Given the description of an element on the screen output the (x, y) to click on. 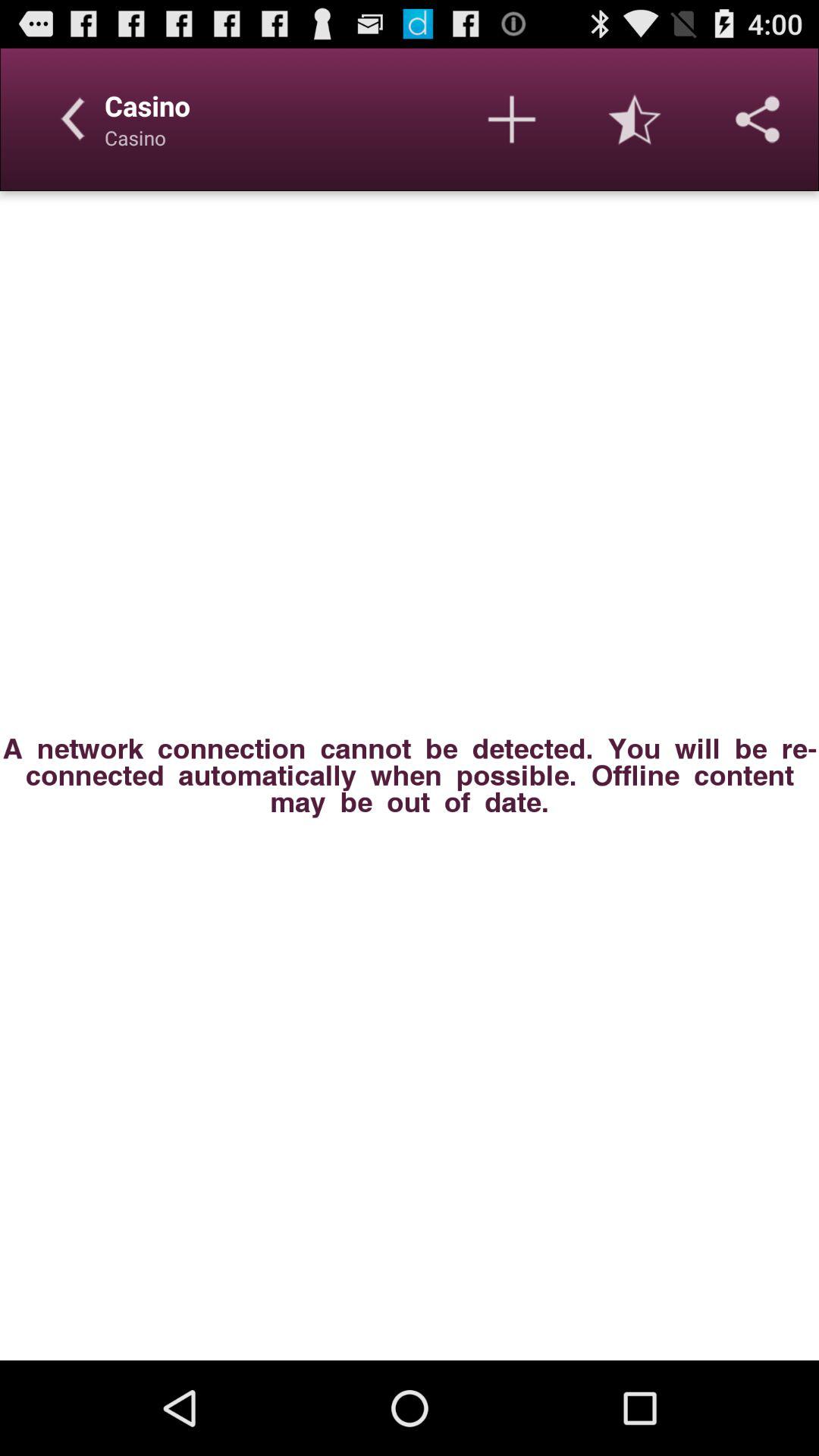
add casino (511, 119)
